Given the description of an element on the screen output the (x, y) to click on. 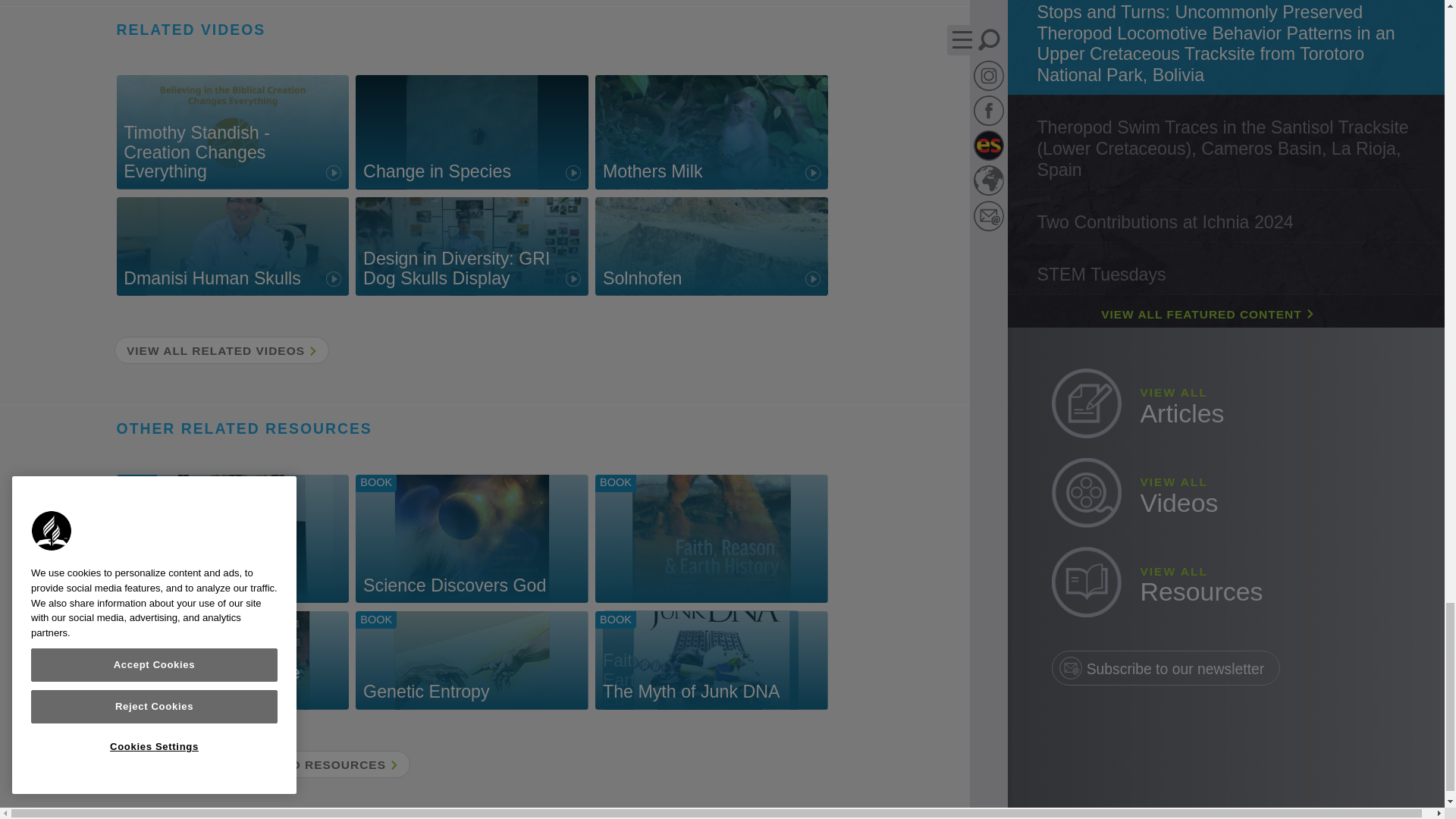
Dmanisi Human Skulls (232, 246)
Design in Diversity: GRI Dog Skulls Display (711, 660)
Mothers Milk (471, 246)
VIEW ALL RELATED VIDEOS (232, 660)
BOOK (711, 132)
Timothy Standish - Creation Changes Everything (232, 539)
Solnhofen (221, 349)
Change in Species (711, 539)
Faith, Reason, and Earth History - 3rd Edition (471, 539)
VIEW ALL OTHER RELATED RESOURCES (232, 132)
